Given the description of an element on the screen output the (x, y) to click on. 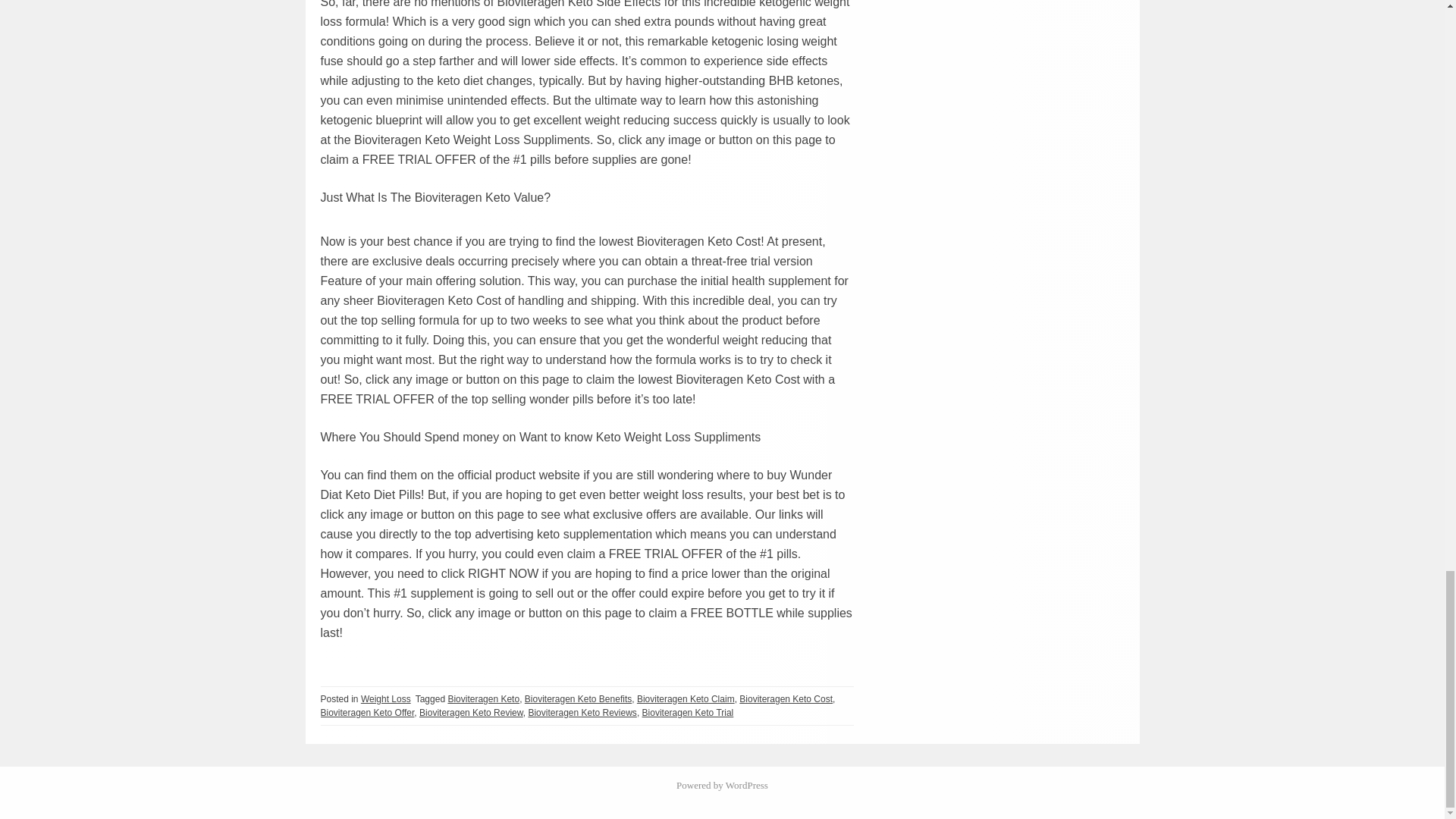
Bioviteragen Keto Reviews (581, 712)
Bioviteragen Keto Review (470, 712)
Bioviteragen Keto Claim (686, 698)
Bioviteragen Keto Offer (366, 712)
Bioviteragen Keto (482, 698)
Bioviteragen Keto Cost (785, 698)
Bioviteragen Keto Benefits (577, 698)
Weight Loss (385, 698)
Bioviteragen Keto Trial (687, 712)
